Given the description of an element on the screen output the (x, y) to click on. 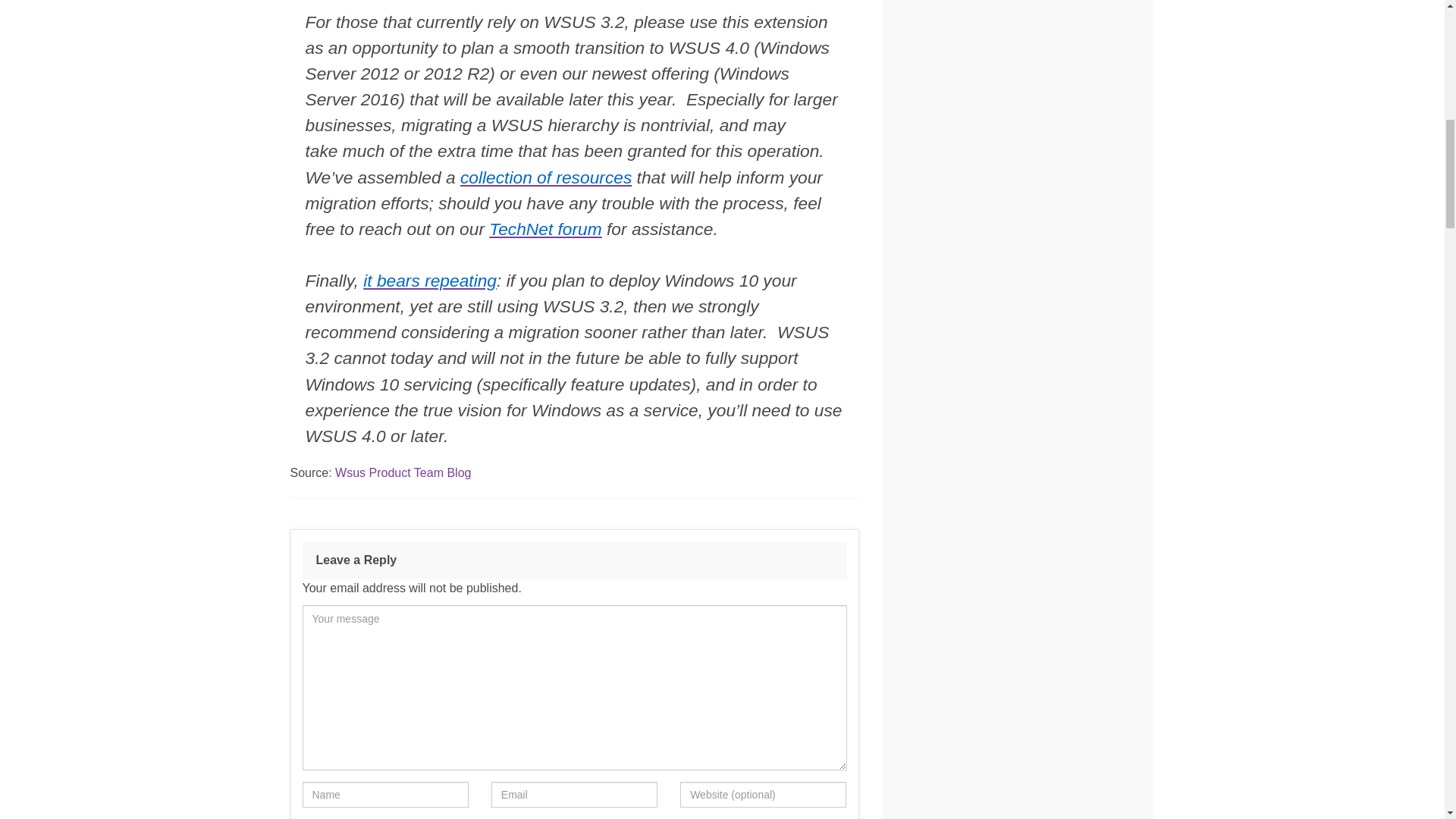
View my verified achievement on Credly. (953, 49)
Wsus Product Team Blog (402, 472)
View my verified achievement on Credly. (953, 776)
collection of resources (545, 176)
View my verified achievement on Credly. (1074, 49)
TechNet forum (545, 229)
it bears repeating (429, 280)
